Given the description of an element on the screen output the (x, y) to click on. 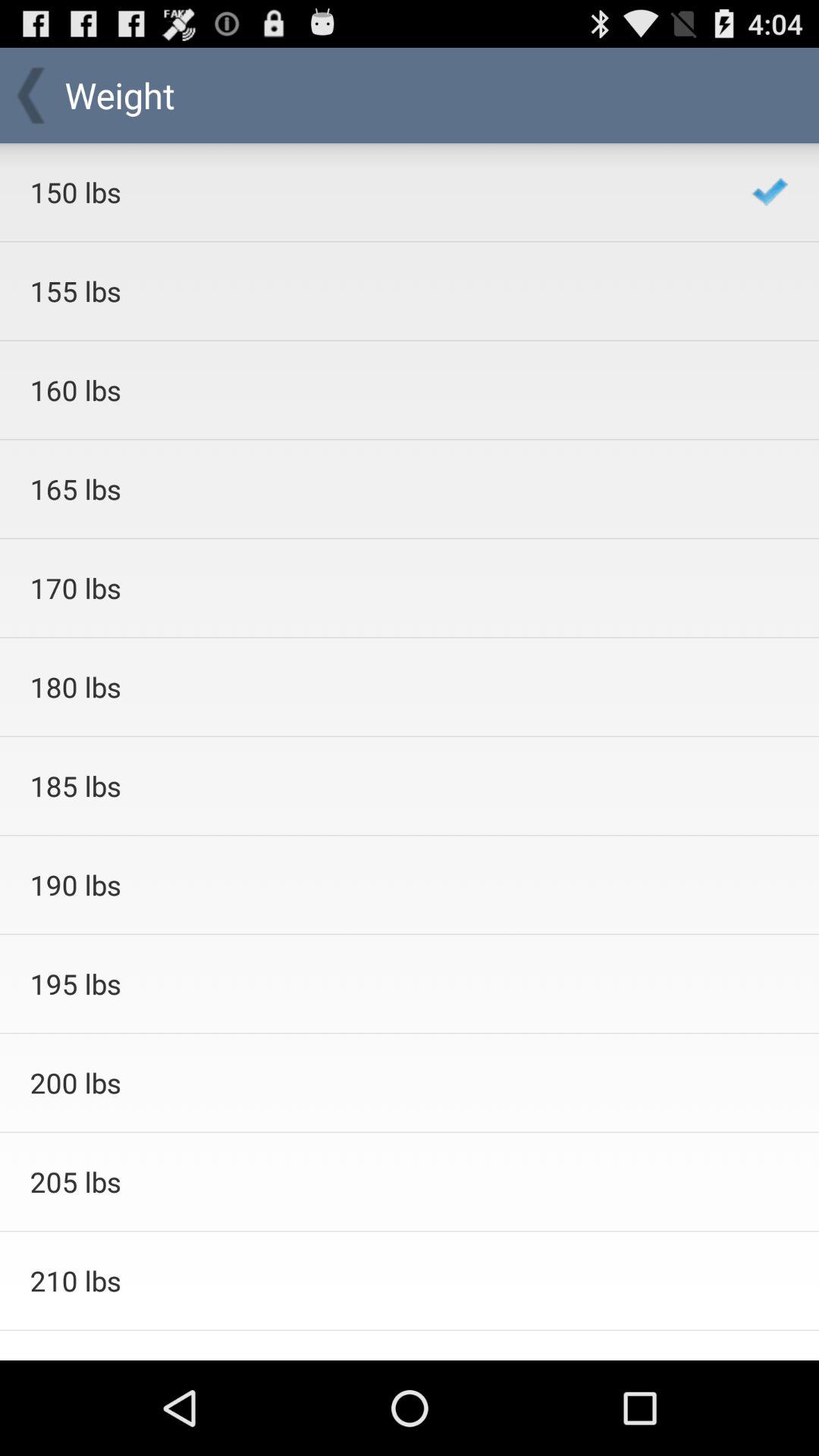
choose the 190 lbs app (371, 884)
